Given the description of an element on the screen output the (x, y) to click on. 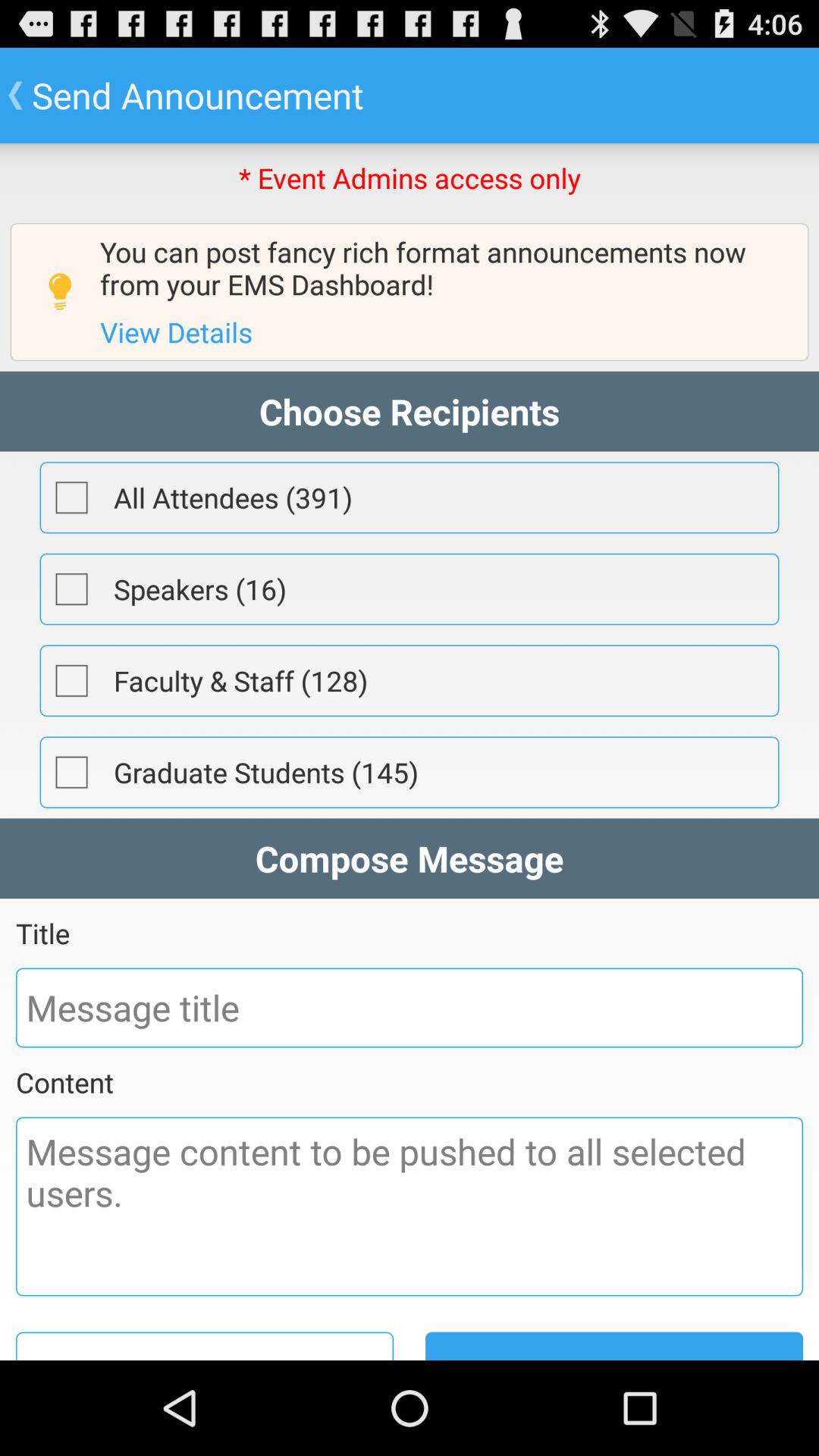
compose message (409, 1206)
